Given the description of an element on the screen output the (x, y) to click on. 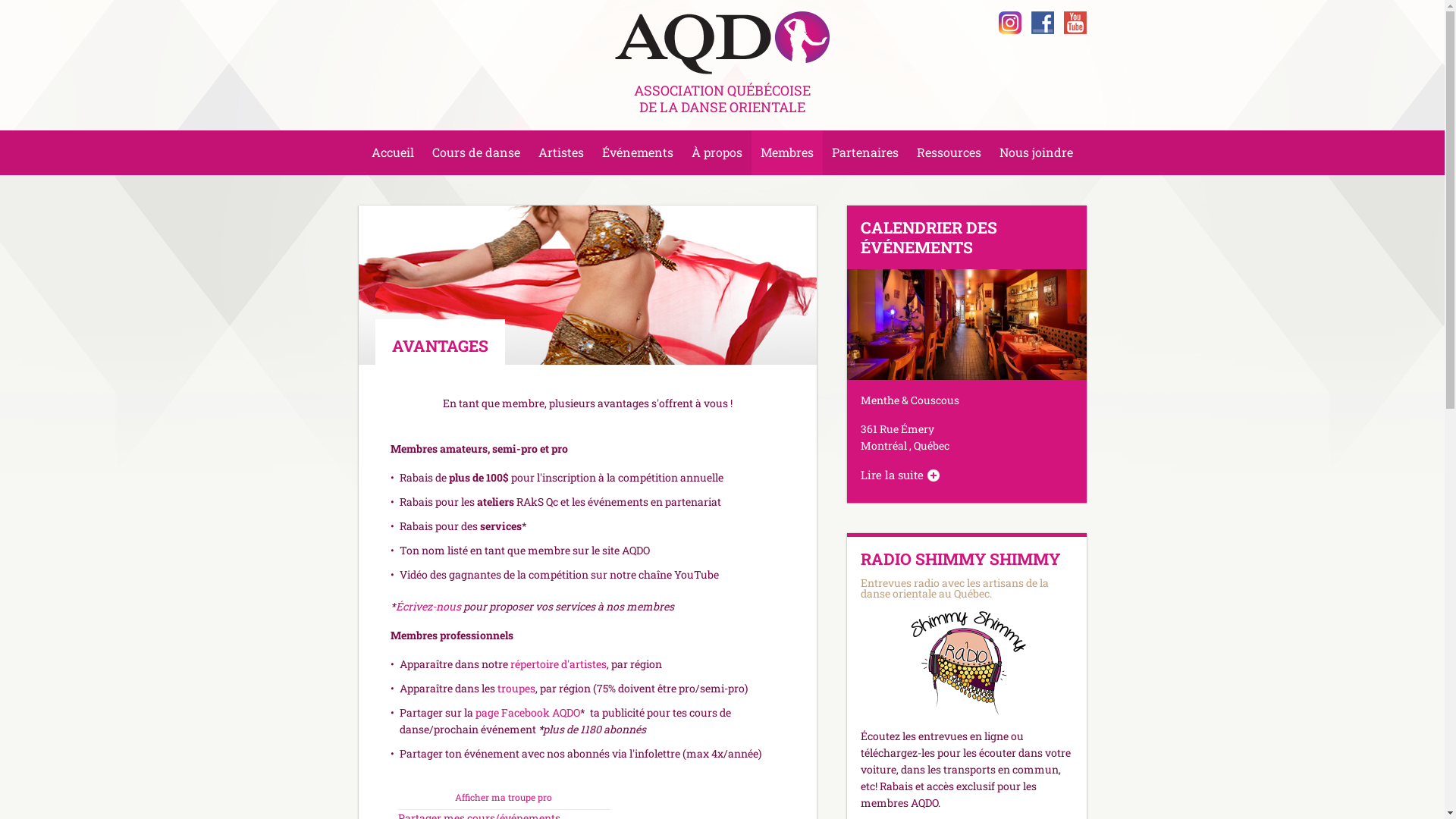
Lire la suite Element type: text (898, 474)
Accueil Element type: text (392, 152)
A Element type: text (458, 796)
Ressources Element type: text (948, 152)
Membres Element type: text (786, 152)
page Facebook AQDO Element type: text (526, 712)
troupes Element type: text (516, 687)
Nous joindre Element type: text (1036, 152)
Partenaires Element type: text (864, 152)
Cours de danse Element type: text (476, 152)
fficher ma troupe pro Element type: text (506, 796)
Artistes Element type: text (561, 152)
